Given the description of an element on the screen output the (x, y) to click on. 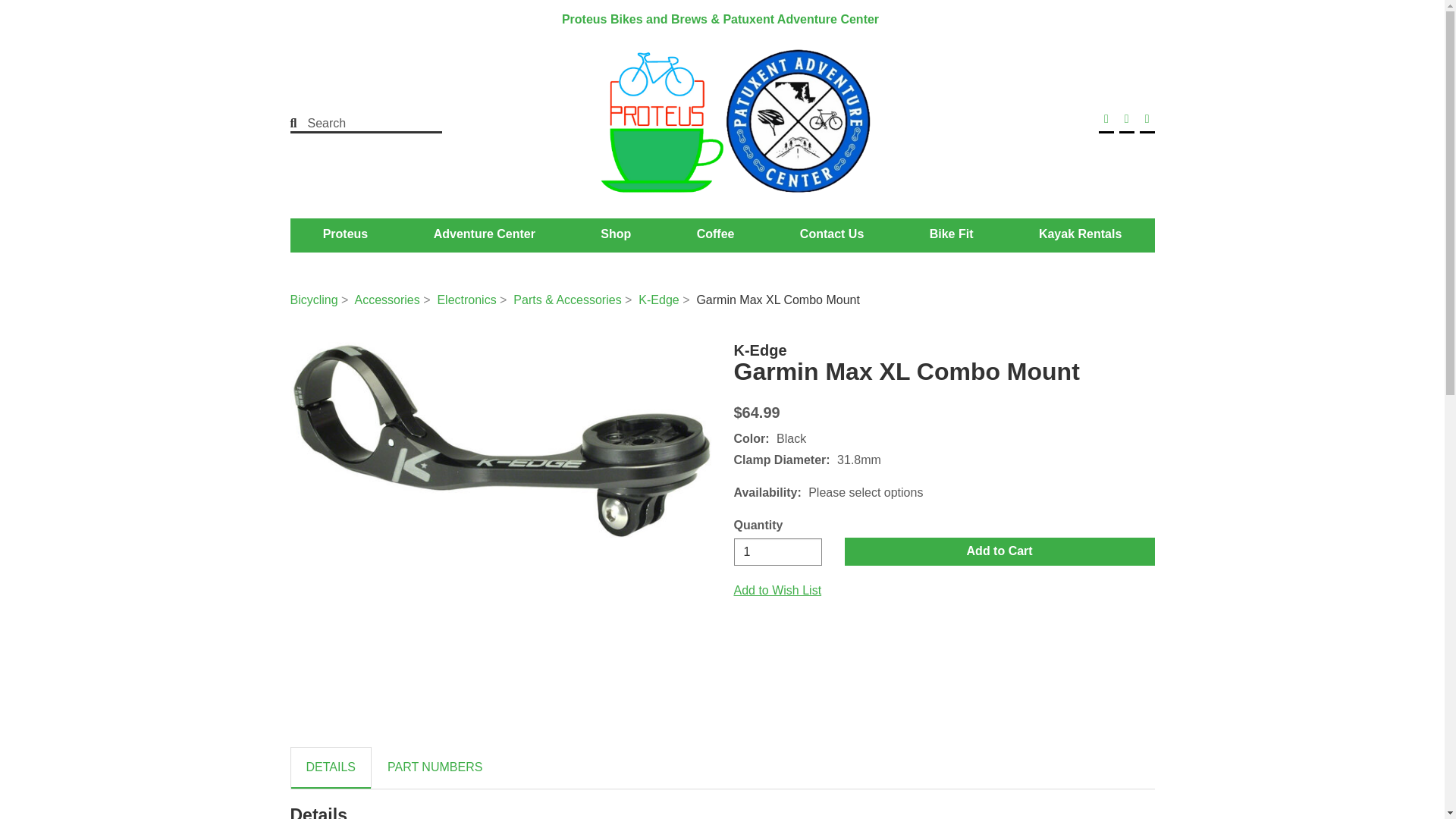
1 (777, 551)
Search (356, 123)
Shop (615, 234)
Proteus (345, 234)
K-Edge Garmin Max XL Combo Mount (499, 439)
Adventure Center (484, 234)
